Given the description of an element on the screen output the (x, y) to click on. 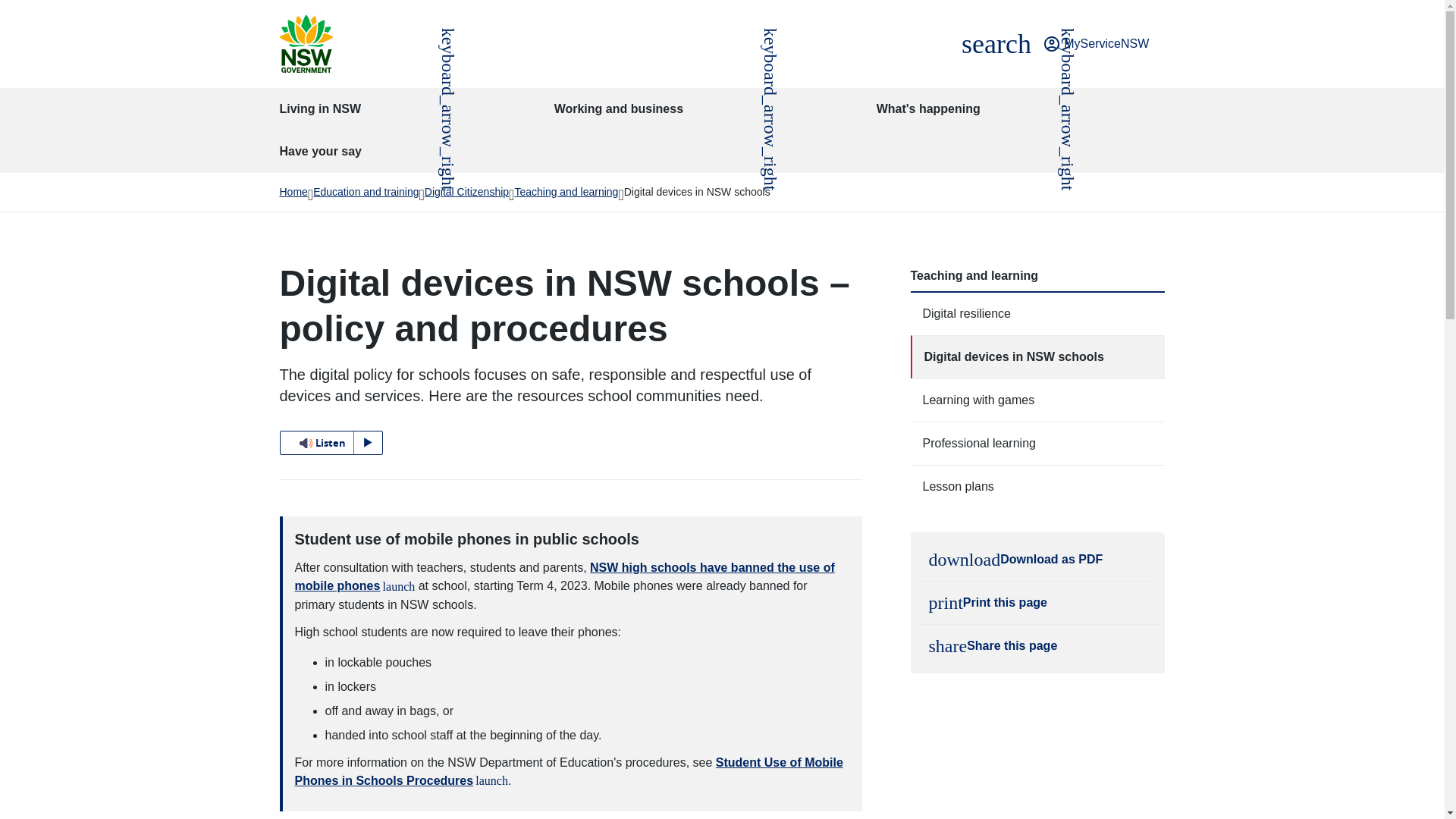
NSW high schools have banned the use of mobile phones (564, 576)
Student Use of Mobile Phones in Schools Procedures (568, 771)
Listen to this page using ReadSpeaker webReader (996, 43)
MyServiceNSW (330, 442)
